Given the description of an element on the screen output the (x, y) to click on. 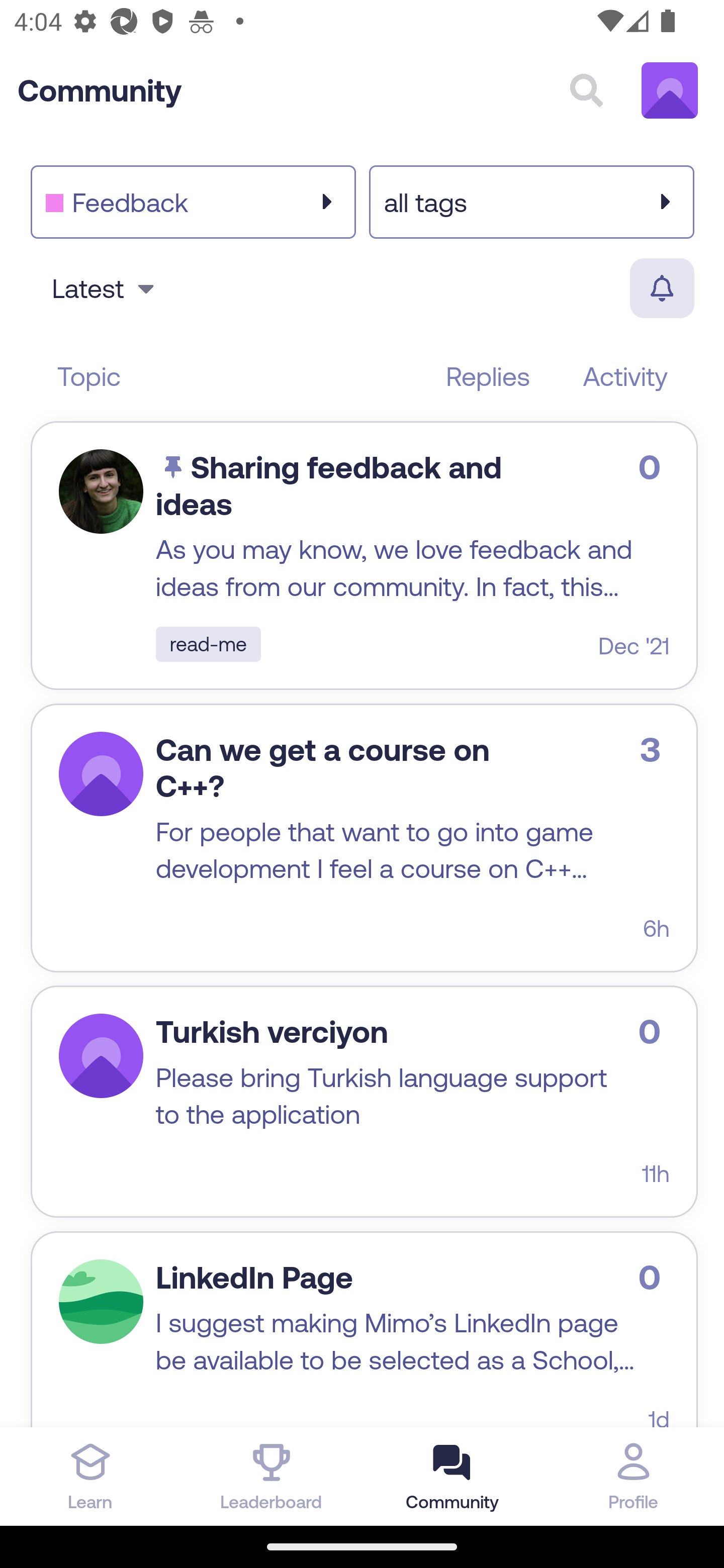
Search (586, 90)
Test Appium's account (669, 90)
Community (100, 90)
Filter by: Feedback (192, 201)
Filter by: all tags (531, 201)
Latest (105, 288)
change notification level for this category (661, 288)
Sort by replies (487, 375)
Sort by activity (625, 375)
1 (100, 491)
This topic has 0 replies (653, 467)
Sharing feedback and ideas (328, 486)
read-me (208, 644)
Dec '21 (633, 645)
1 (100, 772)
This topic has 3 replies (654, 747)
Can we get a course on C++? (322, 767)
6h (656, 928)
1 (100, 1055)
Turkish verciyon (271, 1031)
This topic has 0 replies (653, 1031)
11h (655, 1172)
1 (100, 1301)
This topic has 0 replies (653, 1276)
LinkedIn Page (253, 1277)
1d (658, 1416)
Learn (90, 1475)
Leaderboard (271, 1475)
Profile (633, 1475)
